Given the description of an element on the screen output the (x, y) to click on. 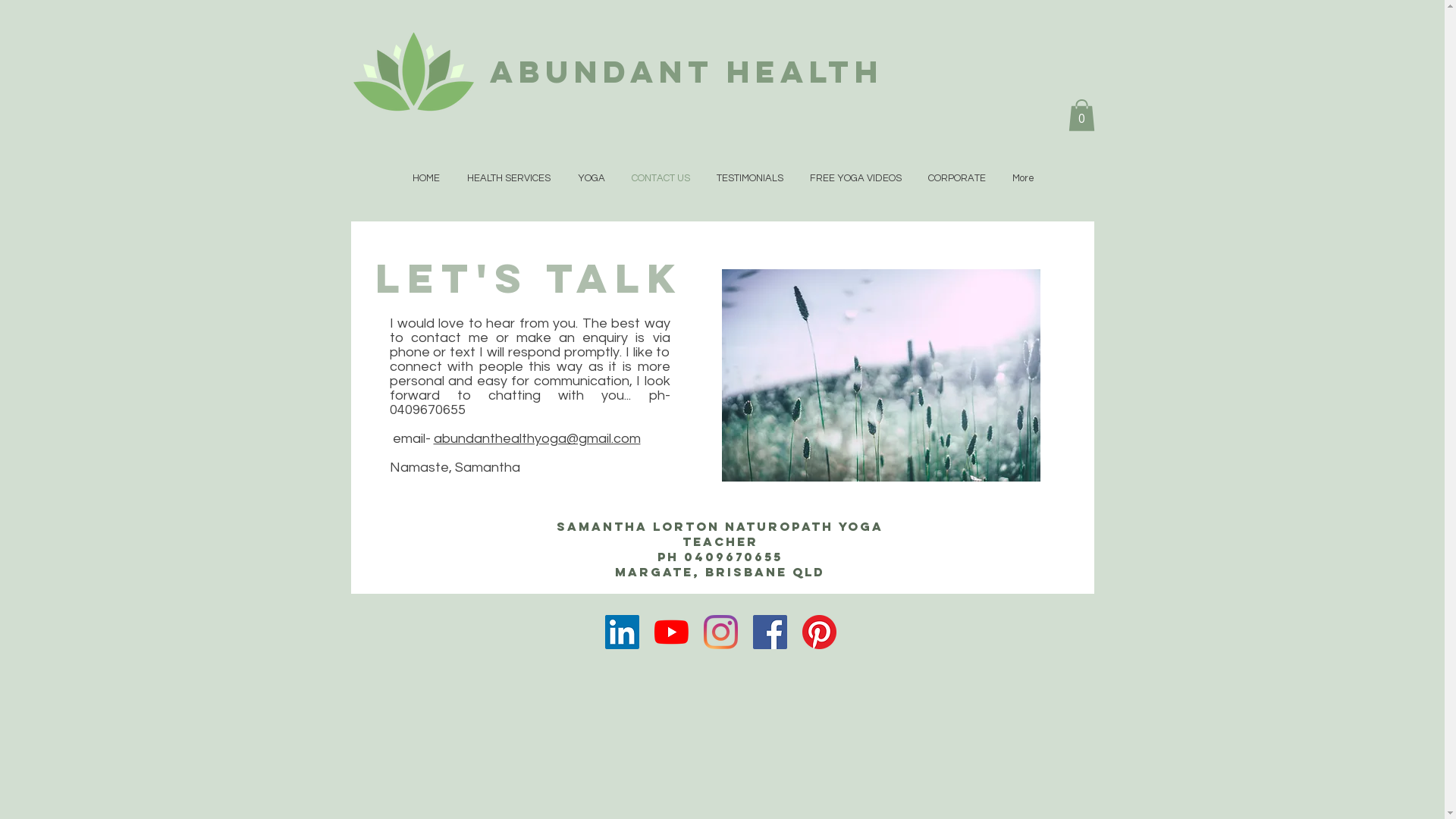
HEALTH SERVICES Element type: text (508, 178)
abundanthealthyoga@gmail.com Element type: text (536, 438)
HOME Element type: text (425, 178)
0 Element type: text (1080, 115)
Louts Colour Transparent Background (1). Element type: hover (413, 72)
CONTACT US Element type: text (660, 178)
FREE YOGA VIDEOS Element type: text (855, 178)
CORPORATE Element type: text (956, 178)
YOGA Element type: text (591, 178)
TESTIMONIALS Element type: text (750, 178)
